Given the description of an element on the screen output the (x, y) to click on. 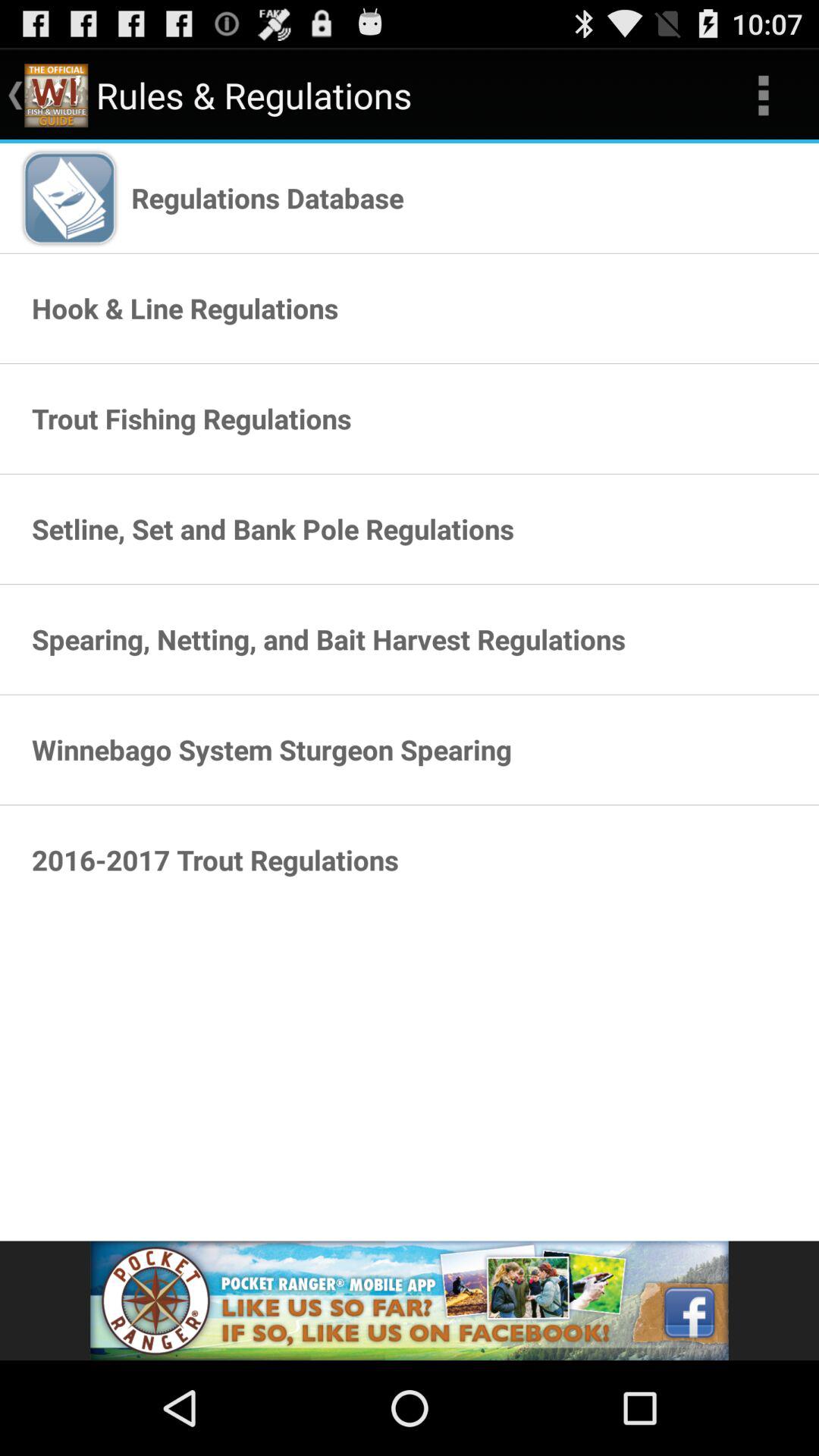
click on mini image which is on the left of rules  regulations (55, 95)
icon shown beside the text regulations database (69, 197)
